Given the description of an element on the screen output the (x, y) to click on. 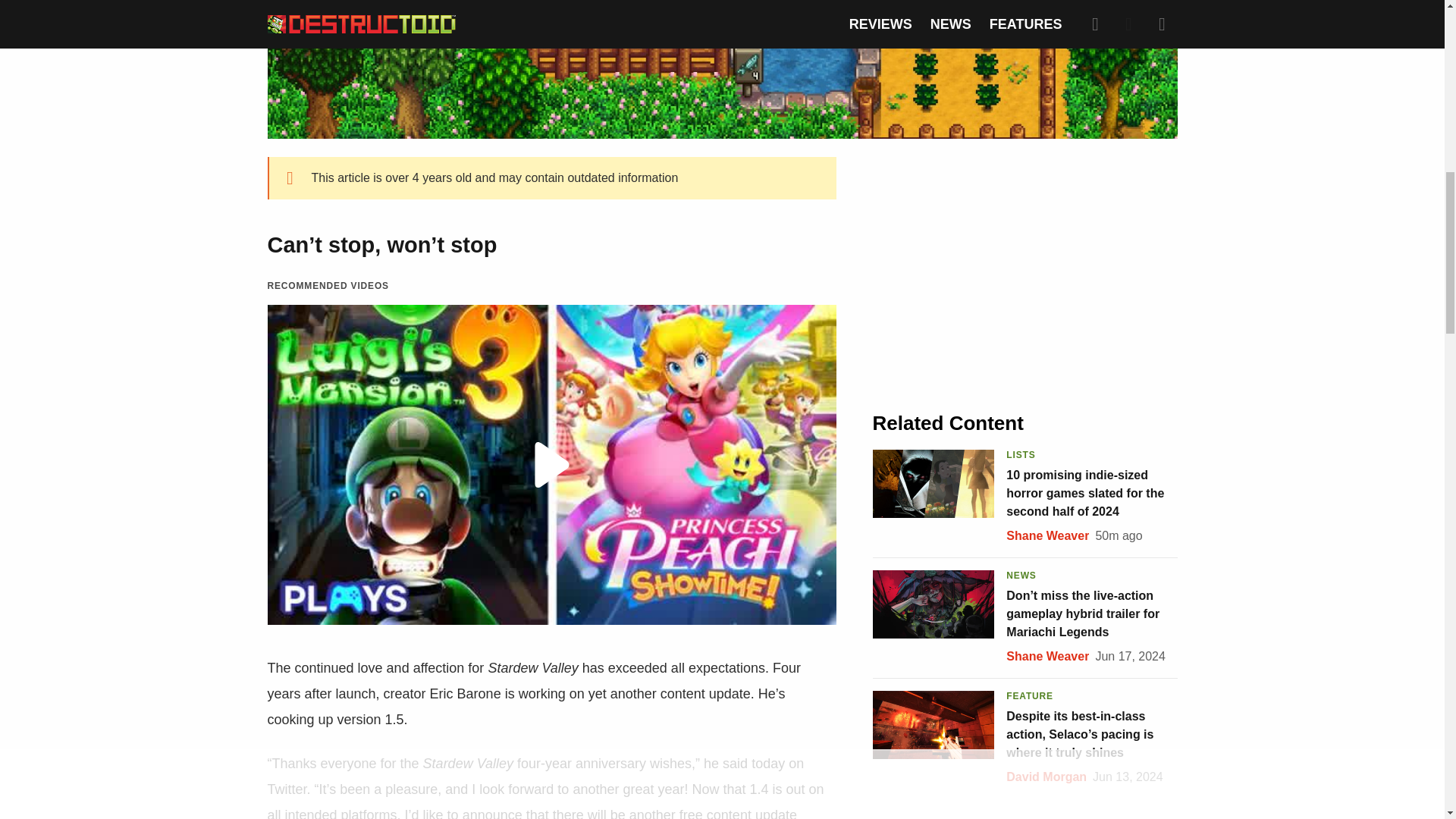
3rd party ad content (1024, 270)
